Given the description of an element on the screen output the (x, y) to click on. 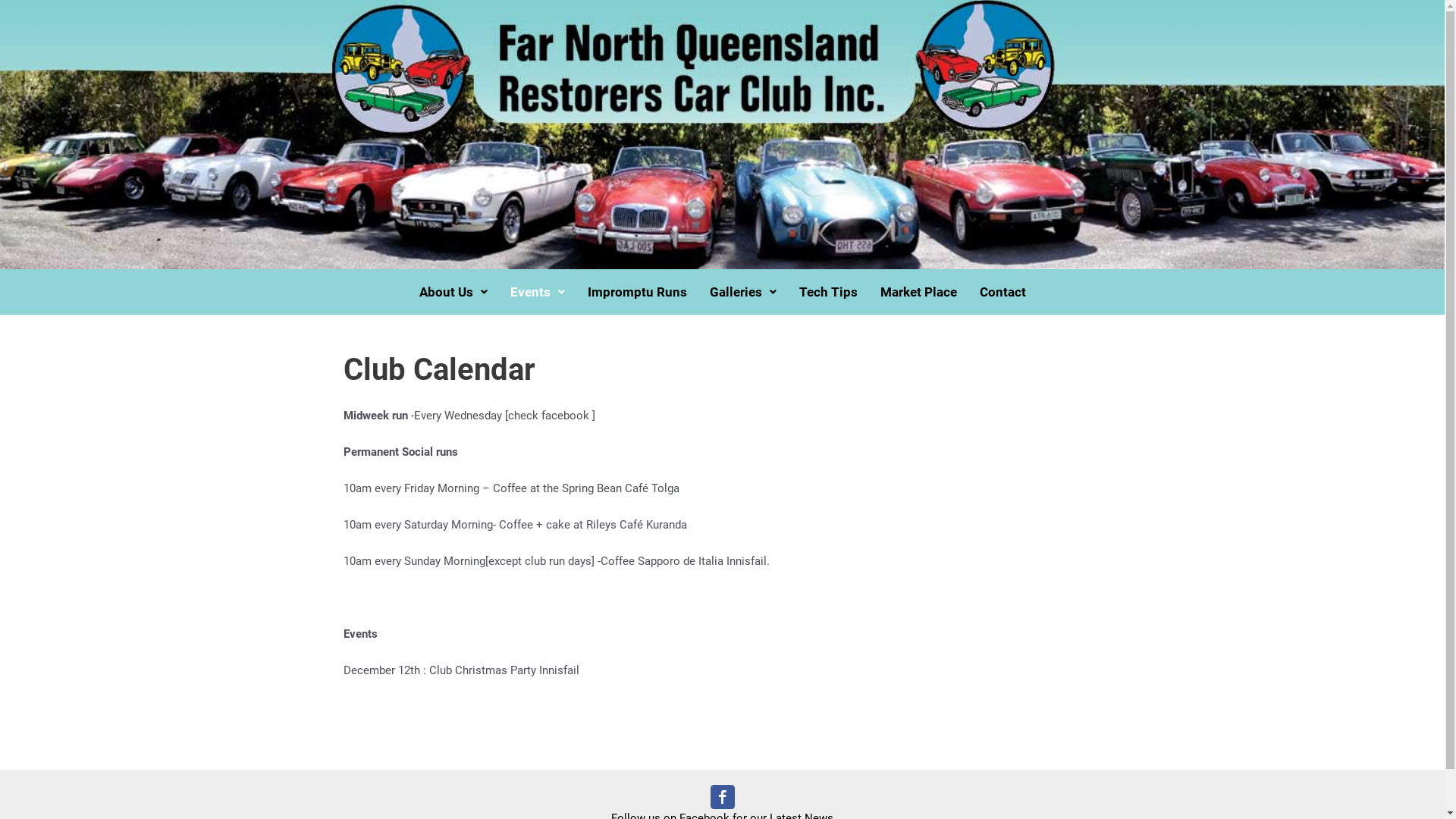
About Us Element type: text (452, 292)
Galleries Element type: text (742, 292)
Impromptu Runs Element type: text (637, 292)
Contact Element type: text (1001, 292)
Tech Tips Element type: text (827, 292)
Market Place Element type: text (918, 292)
Events Element type: text (537, 292)
